Given the description of an element on the screen output the (x, y) to click on. 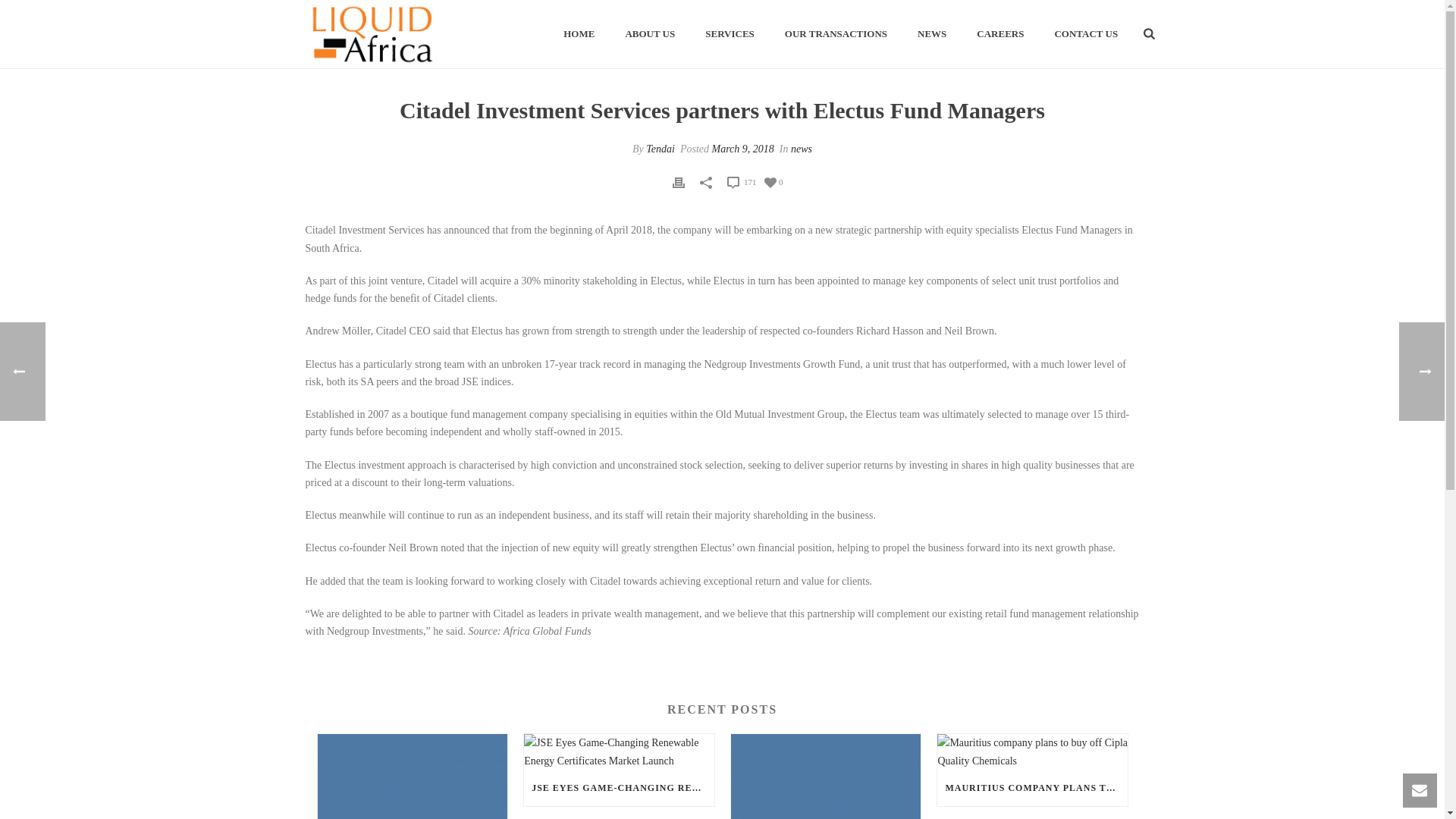
Tendai (660, 148)
Mauritius company plans to buy off Cipla Quality Chemicals (1031, 751)
March 9, 2018 (742, 148)
SERVICES (730, 34)
0 (773, 181)
CAREERS (999, 34)
CAREERS (999, 34)
news (801, 148)
ABOUT US (650, 34)
NEWS (931, 34)
CONTACT US (1085, 34)
HOME (579, 34)
MAURITIUS COMPANY PLANS TO BUY OFF CIPLA QUALITY CHEMICALS (1031, 787)
